Given the description of an element on the screen output the (x, y) to click on. 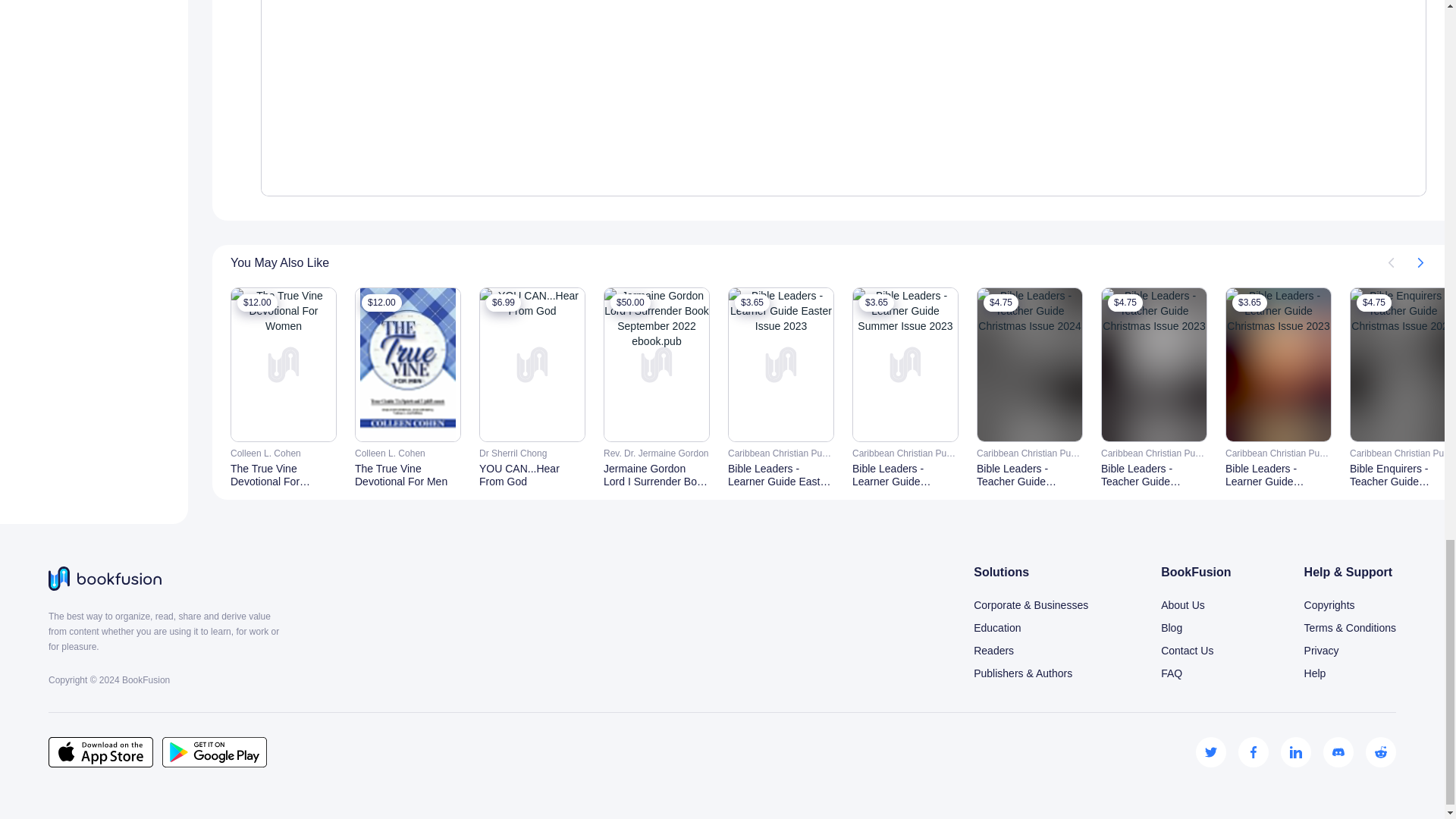
Caribbean Christian Publications - 876-9062828 (781, 453)
Bible Leaders - Learner Guide Easter Issue 2023 (781, 475)
The True Vine Devotional For Men (408, 475)
Colleen L. Cohen (283, 453)
Dr Sherril Chong (532, 453)
Rev. Dr. Jermaine Gordon (657, 453)
Caribbean Christian Publications - 876-9062828 (904, 453)
Bible Leaders - Learner Guide Summer Issue 2023 (904, 475)
Colleen L. Cohen (408, 453)
